Given the description of an element on the screen output the (x, y) to click on. 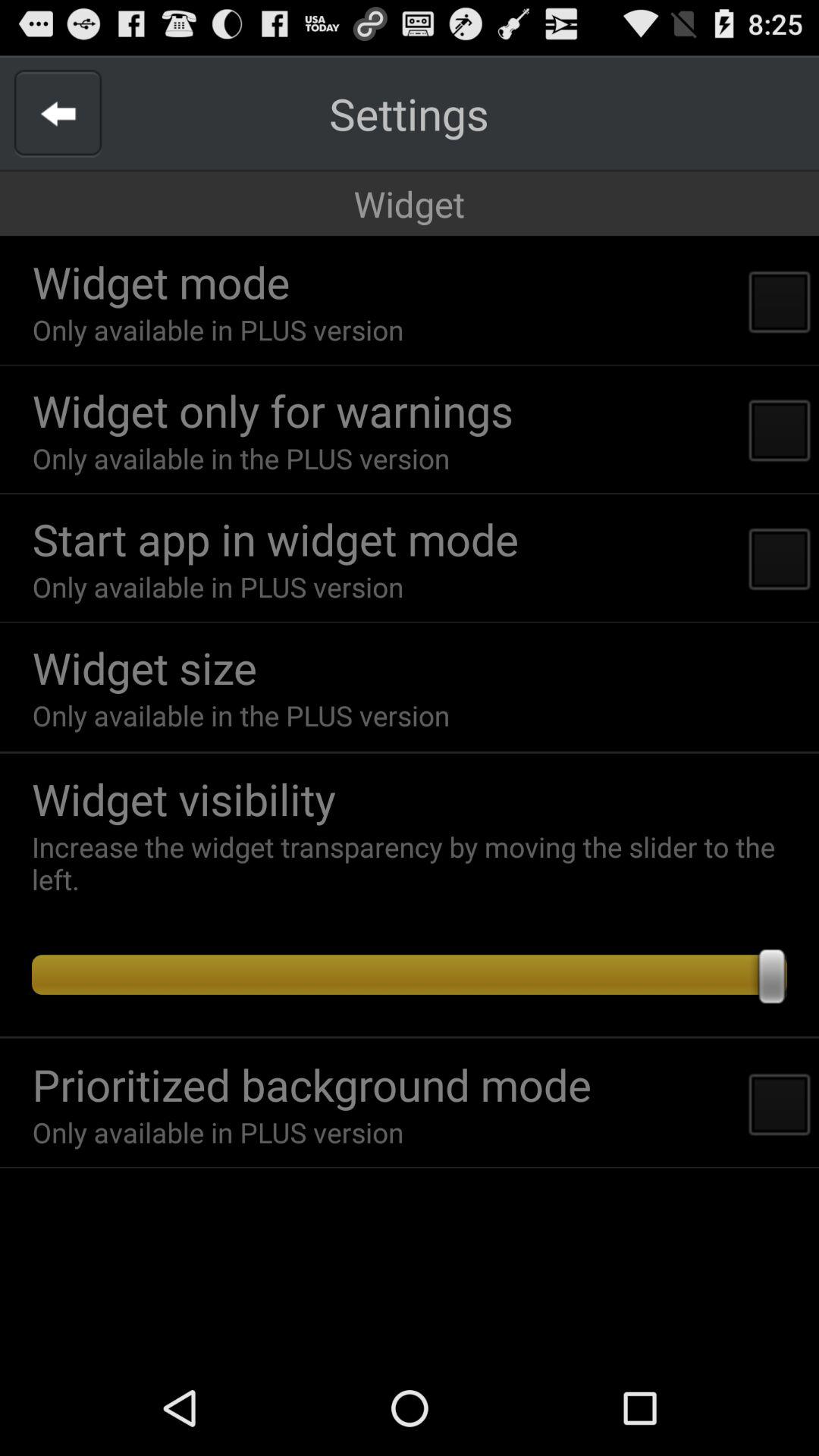
select prioritized background mode item (311, 1084)
